Given the description of an element on the screen output the (x, y) to click on. 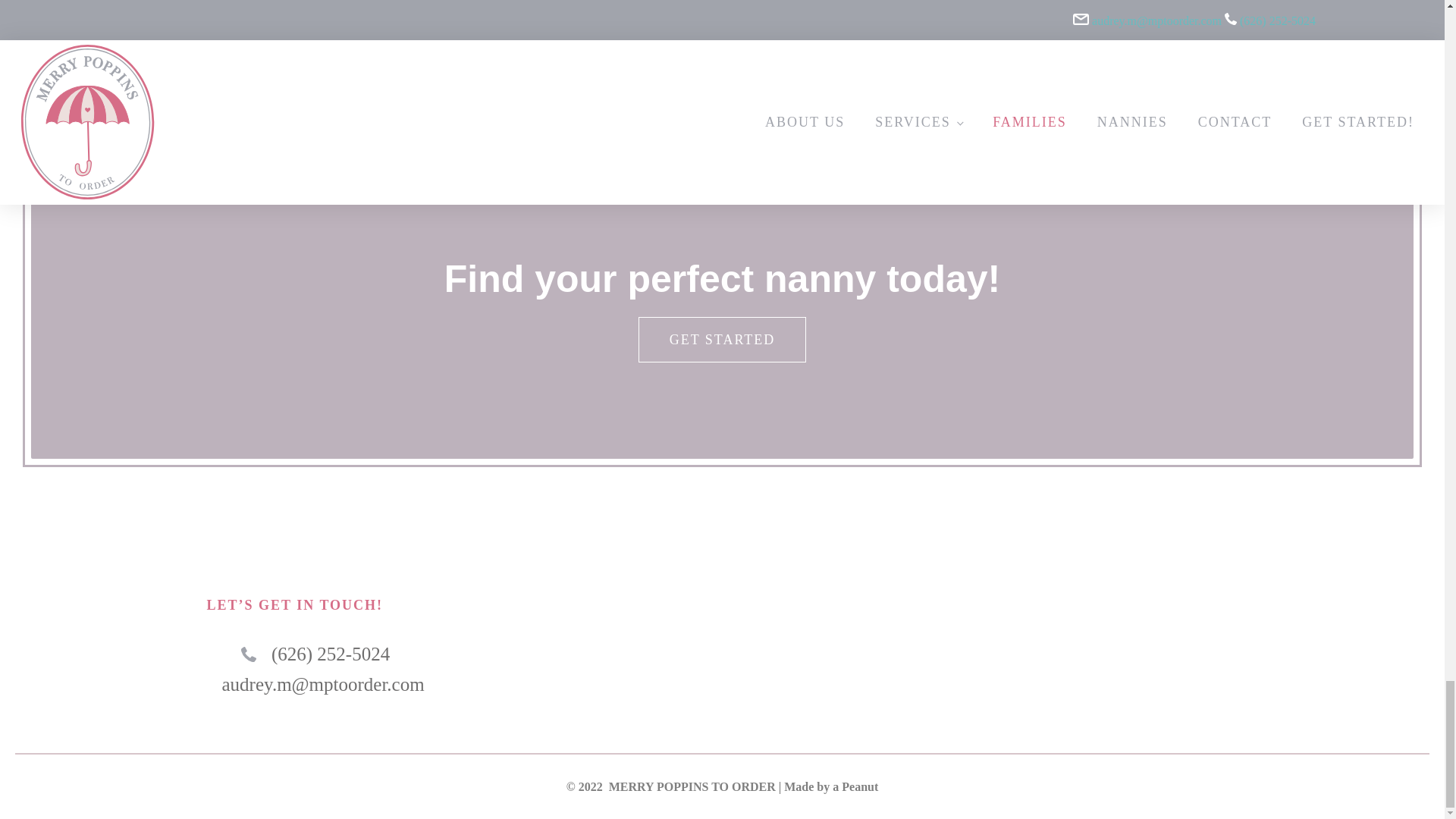
GET STARTED (722, 339)
